Given the description of an element on the screen output the (x, y) to click on. 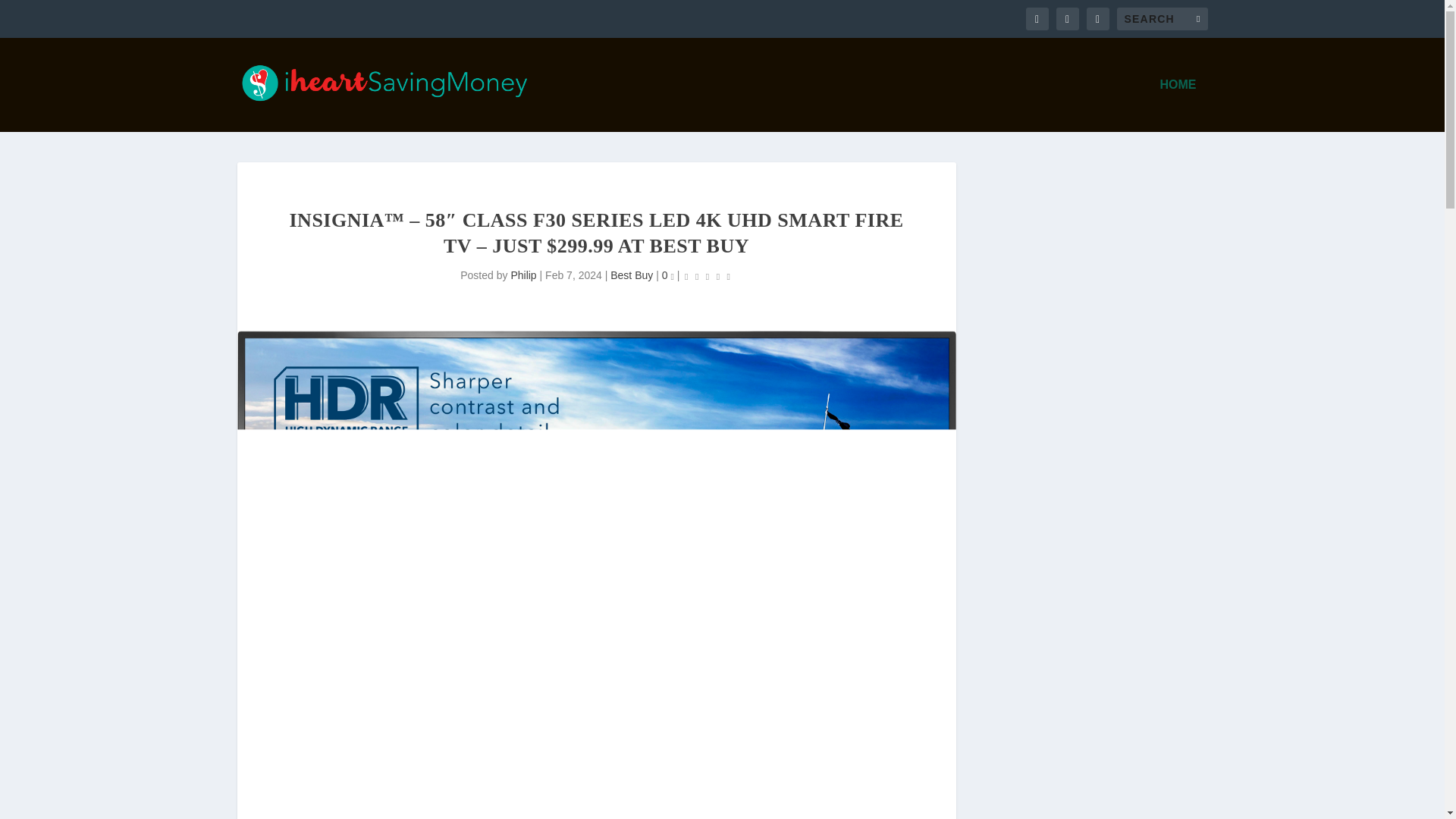
Search for: (1161, 18)
0 (668, 275)
Rating: 0.00 (707, 275)
Posts by Philip (523, 275)
Philip (523, 275)
comment count (670, 276)
Best Buy (631, 275)
HOME (1178, 104)
